Given the description of an element on the screen output the (x, y) to click on. 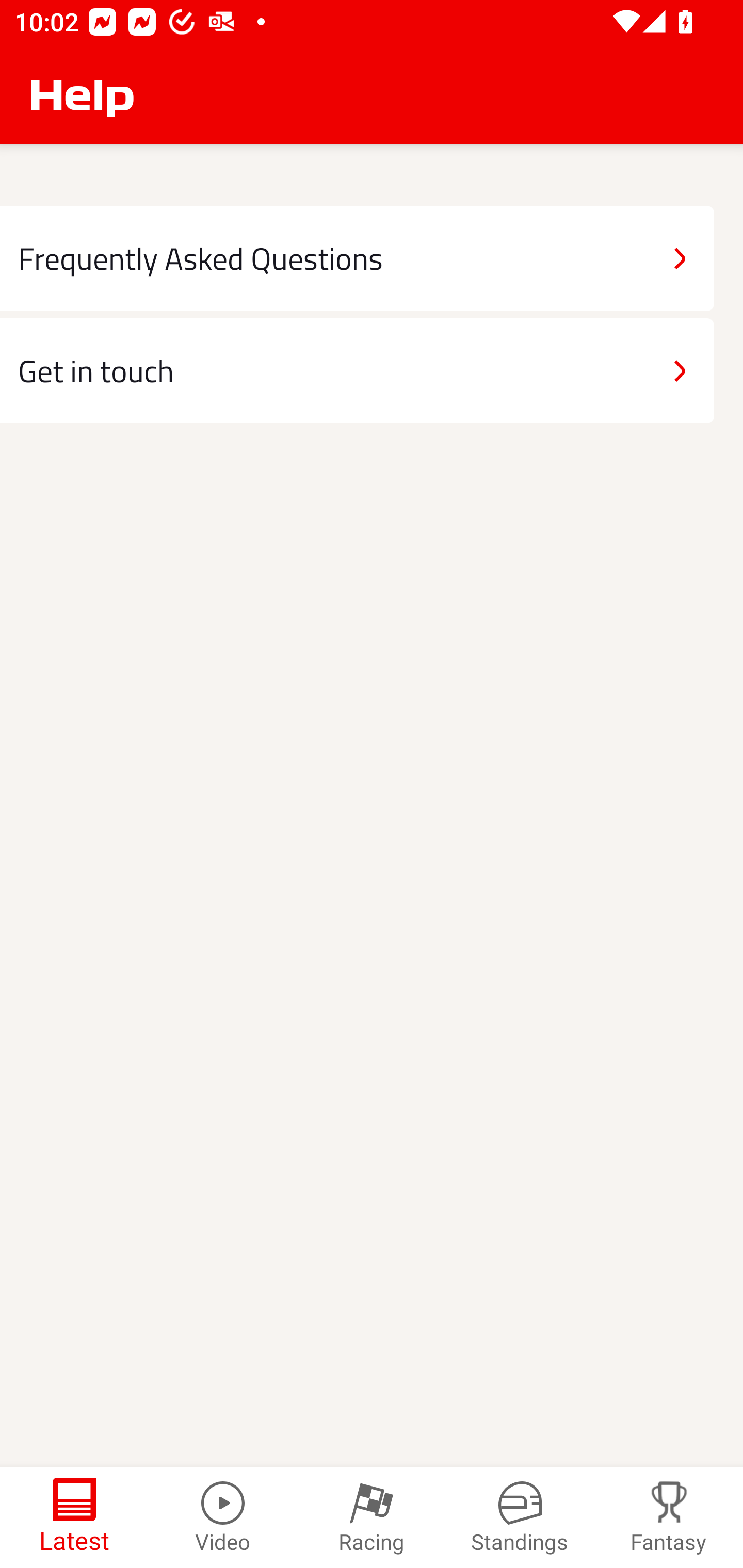
Frequently Asked Questions (357, 257)
Get in touch (357, 370)
Video (222, 1517)
Racing (371, 1517)
Standings (519, 1517)
Fantasy (668, 1517)
